Given the description of an element on the screen output the (x, y) to click on. 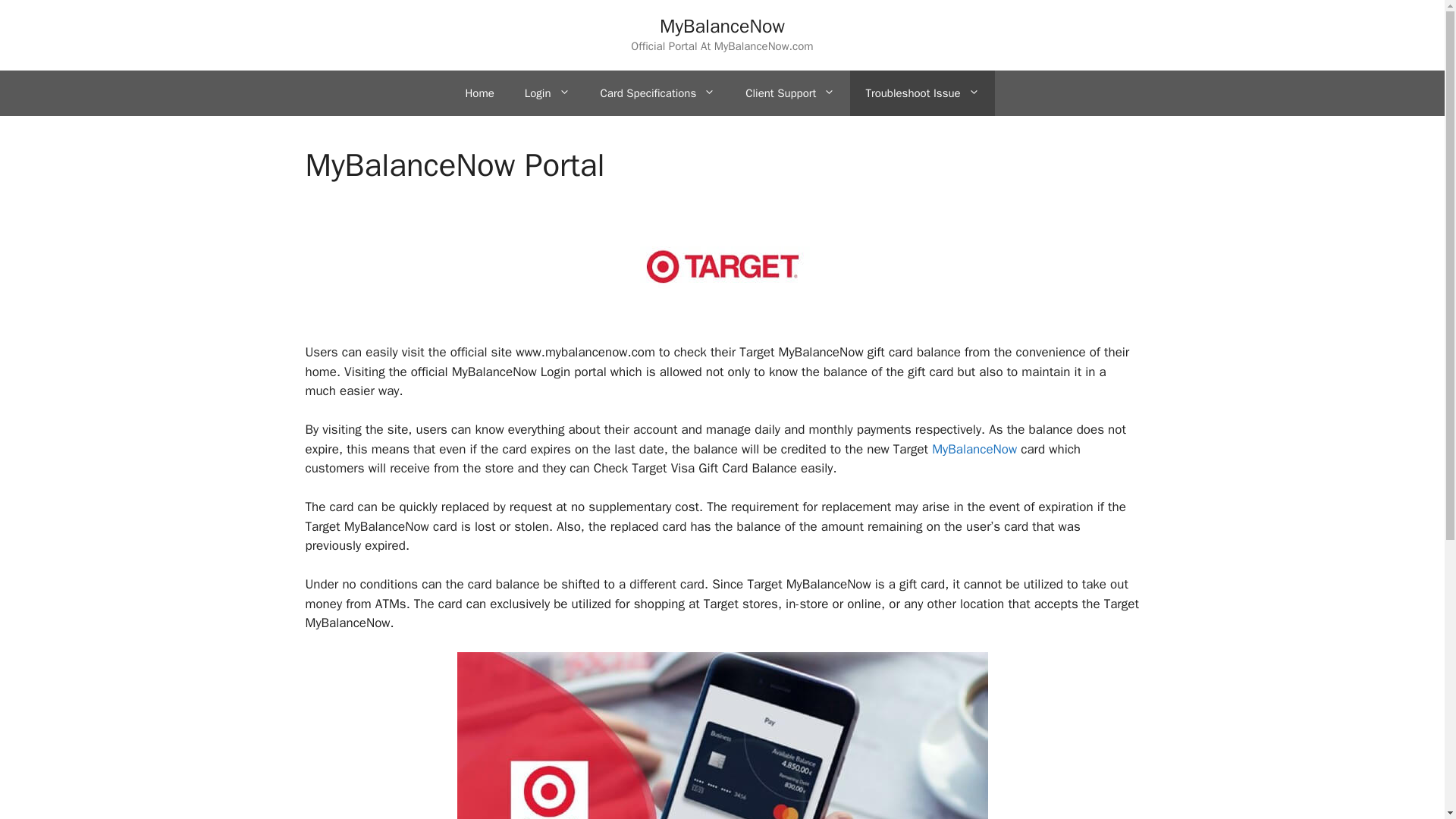
MyBalanceNow (721, 25)
Home (478, 92)
MyBalanceNow (973, 449)
Card Specifications (657, 92)
Client Support (790, 92)
Login (547, 92)
Troubleshoot Issue (922, 92)
